Given the description of an element on the screen output the (x, y) to click on. 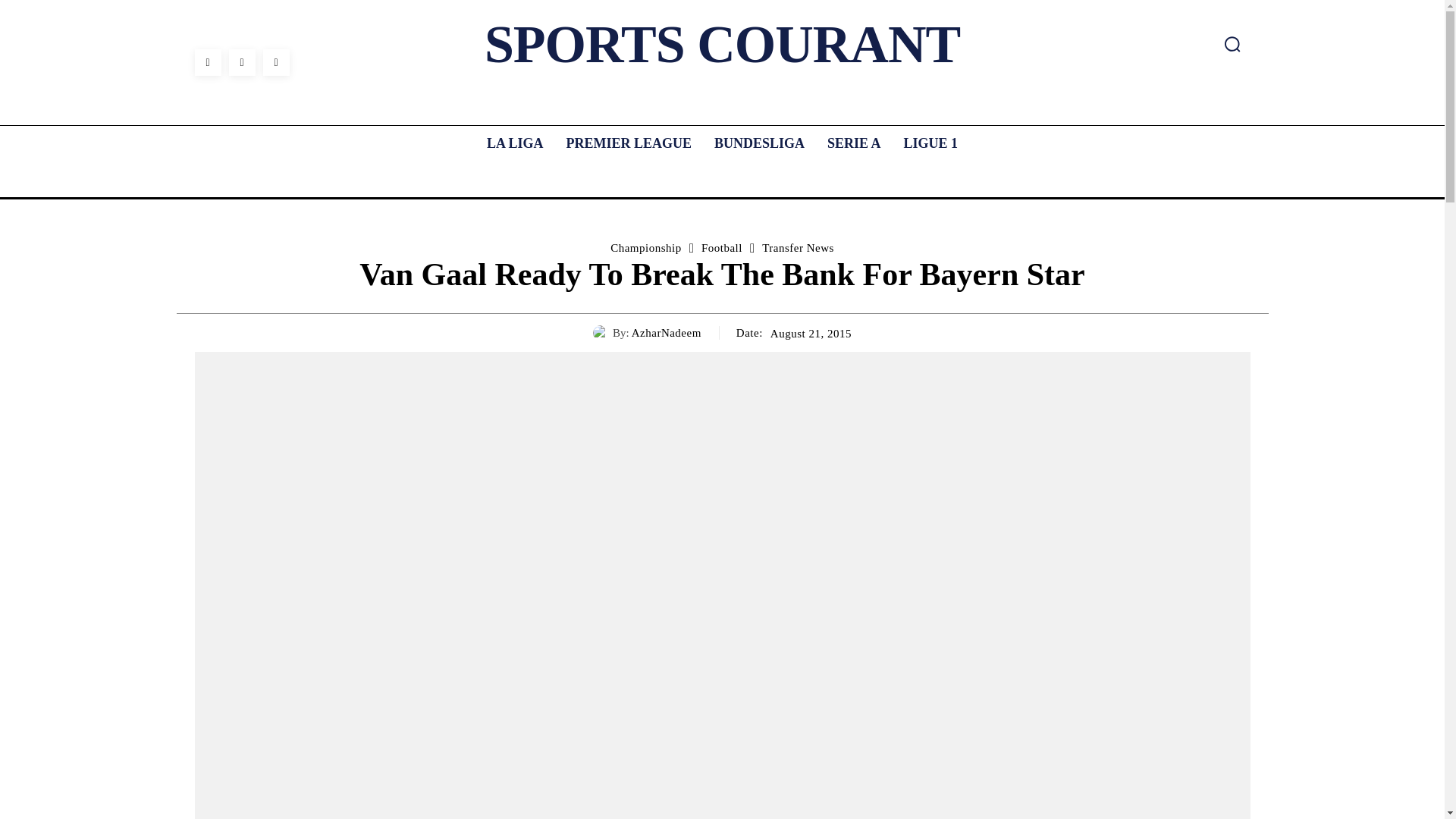
AzharNadeem (602, 332)
Transfer News (797, 247)
LA LIGA (515, 143)
Facebook (207, 62)
LIGUE 1 (931, 143)
SERIE A (853, 143)
Football (721, 247)
Twitter (275, 62)
Championship (645, 247)
SPORTS COURANT (721, 44)
AzharNadeem (666, 332)
Flipboard (242, 62)
PREMIER LEAGUE (627, 143)
BUNDESLIGA (759, 143)
